Given the description of an element on the screen output the (x, y) to click on. 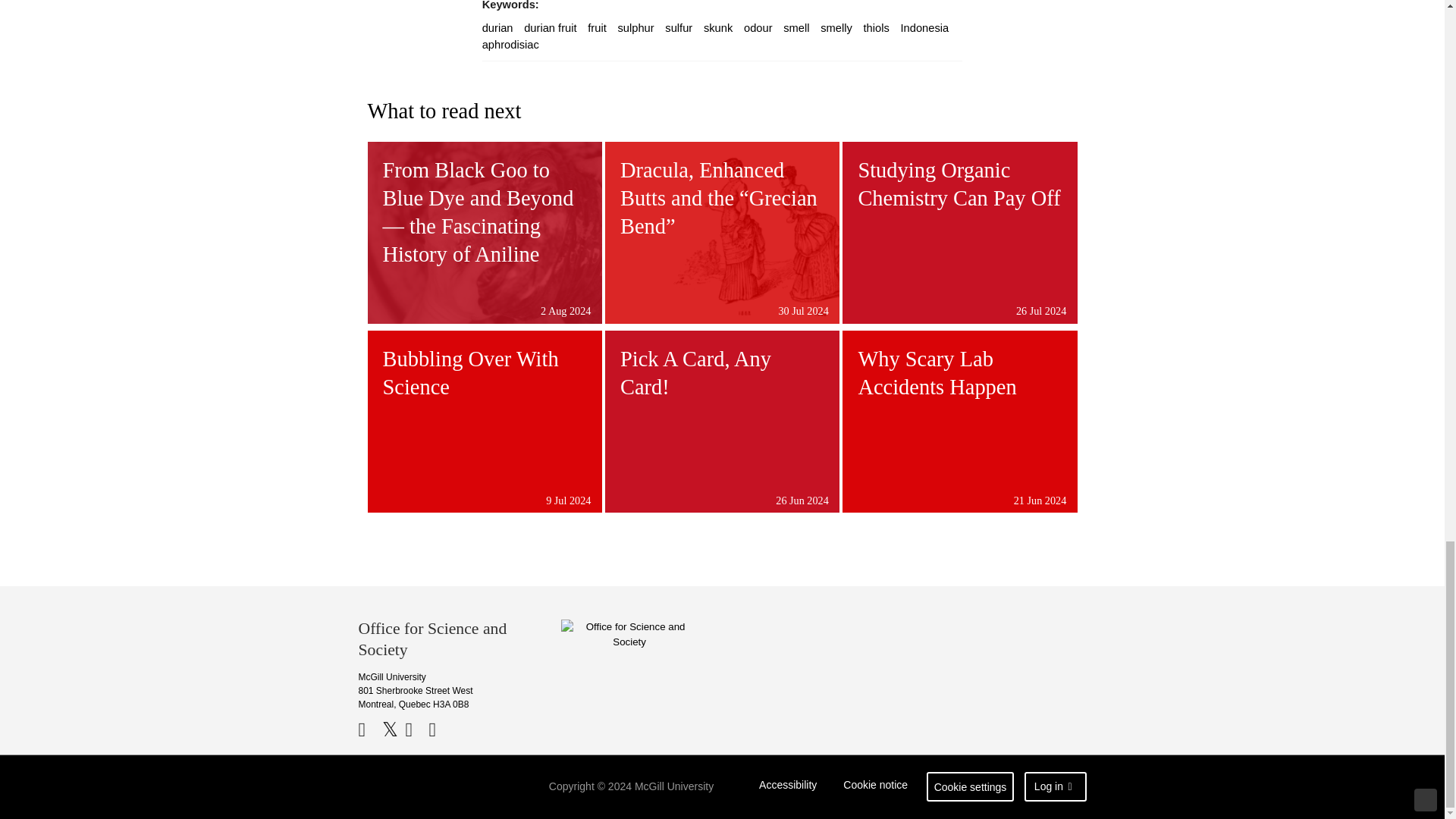
Pick A Card, Any Card! (722, 421)
durian fruit (550, 28)
fruit (596, 28)
Follow us on Instagram (439, 729)
odour (758, 28)
Follow us on Facebook (368, 729)
Why Scary Lab Accidents Happen (960, 421)
smell (796, 28)
Accessibility (788, 786)
Bubbling Over With Science (483, 421)
thiols (876, 28)
aphrodisiac (509, 44)
Indonesia (925, 28)
return to McGill University (417, 786)
